Given the description of an element on the screen output the (x, y) to click on. 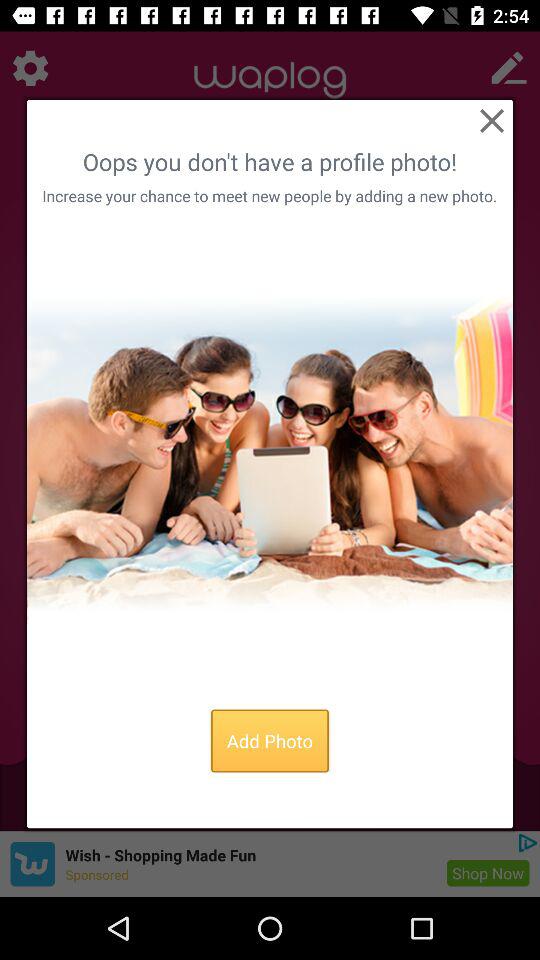
choose item above the oops you don app (491, 120)
